Given the description of an element on the screen output the (x, y) to click on. 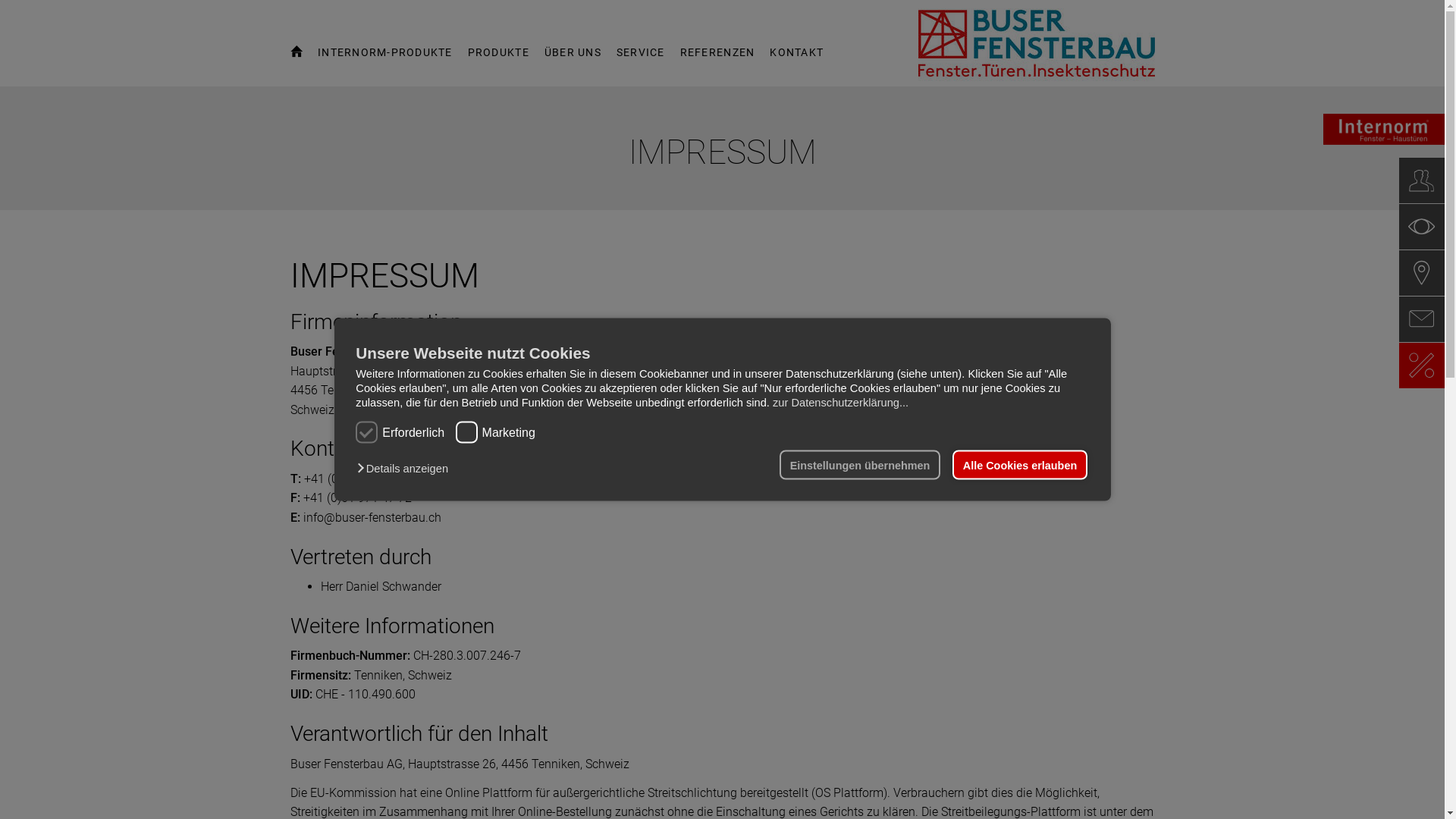
REFERENZEN Element type: text (717, 59)
KONTAKT Element type: text (796, 59)
PRODUKTE Element type: text (498, 59)
INTERNORM-PRODUKTE Element type: text (384, 59)
Alle Cookies erlauben Element type: text (1019, 464)
Details anzeigen Element type: text (405, 467)
SERVICE Element type: text (640, 59)
